Given the description of an element on the screen output the (x, y) to click on. 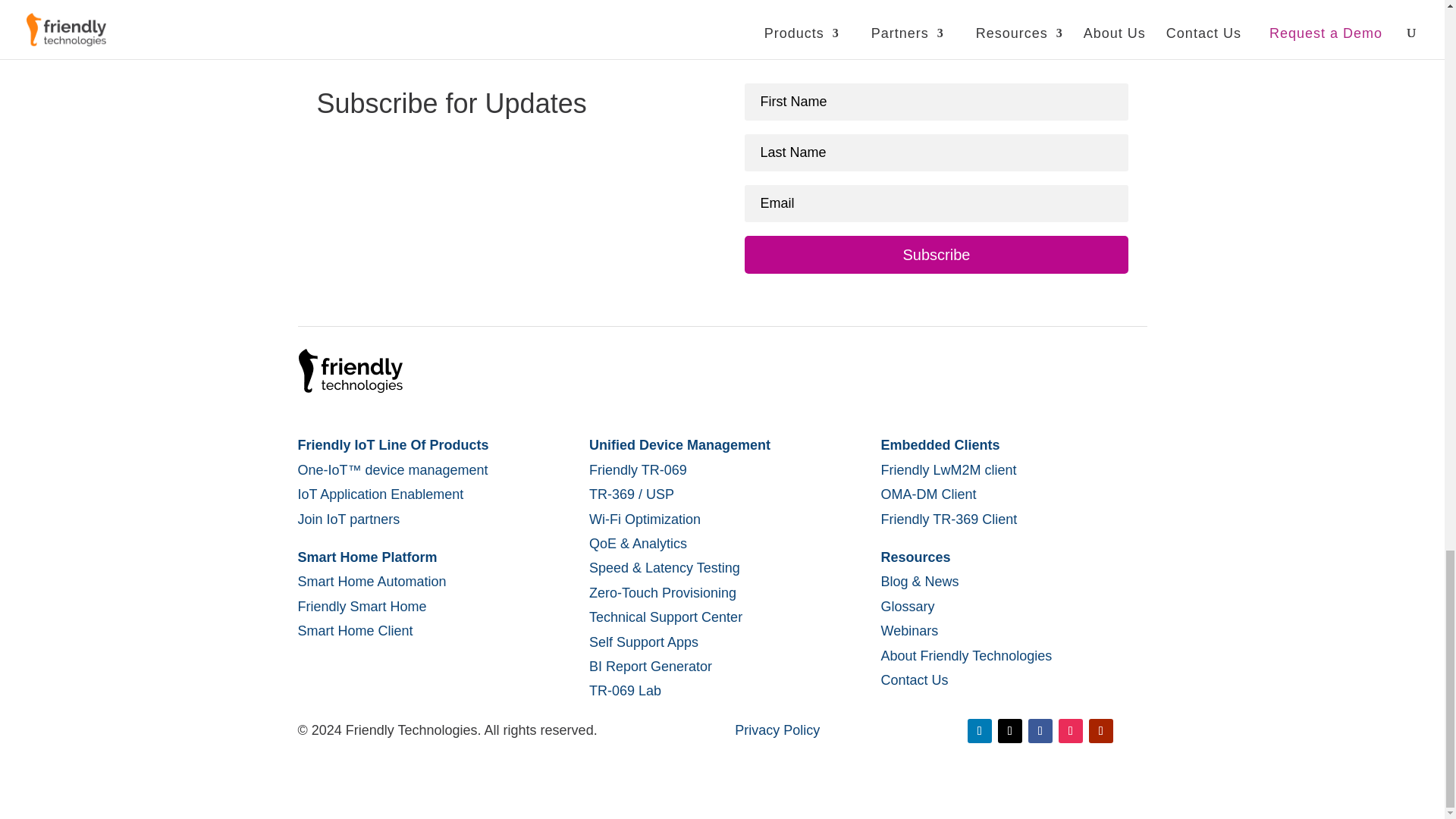
Follow on LinkedIn (979, 730)
logo-bw (350, 370)
Follow on X (1009, 730)
